Given the description of an element on the screen output the (x, y) to click on. 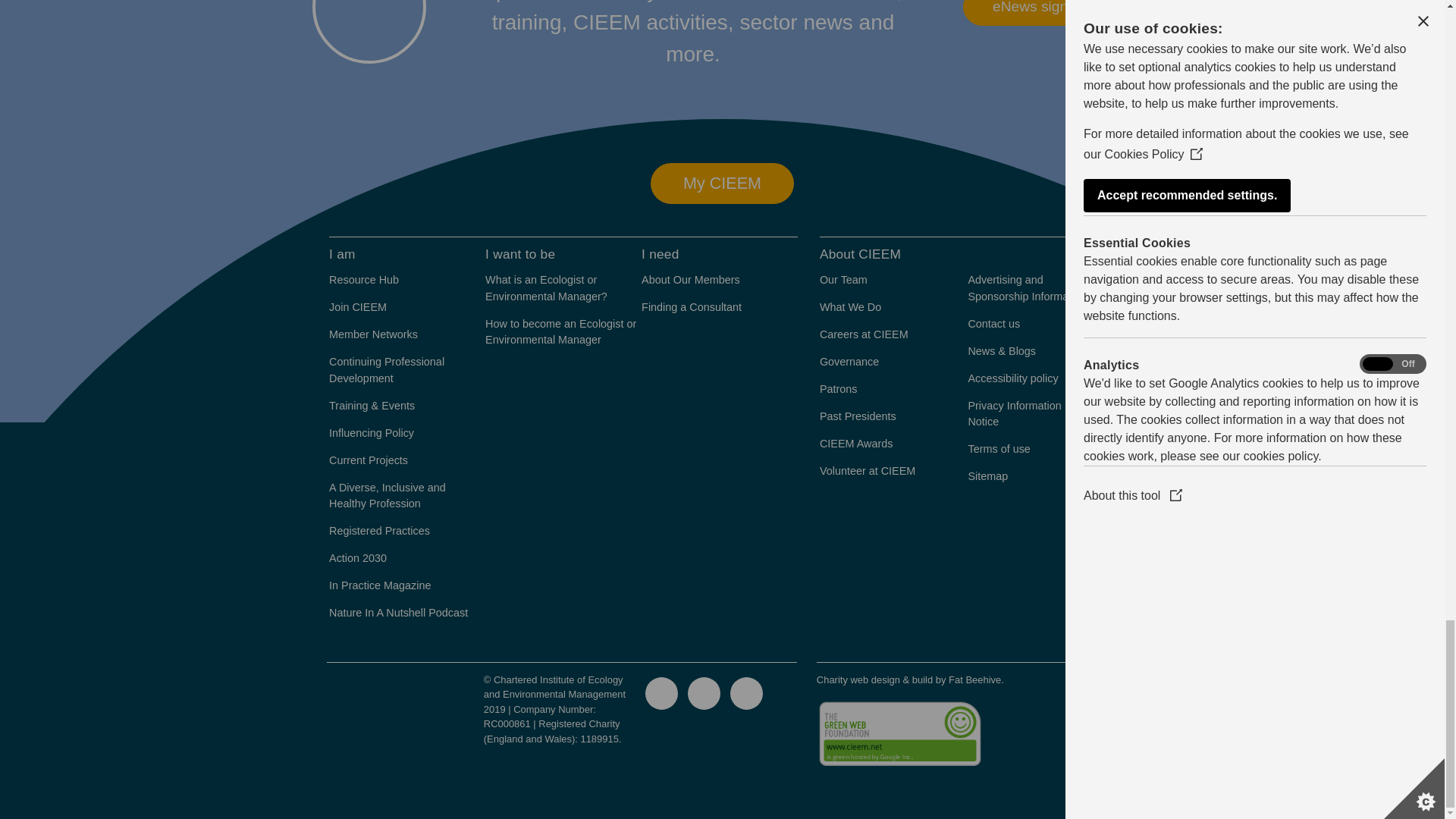
Linkedin (703, 693)
Facebook (746, 693)
Twitter (660, 693)
